Given the description of an element on the screen output the (x, y) to click on. 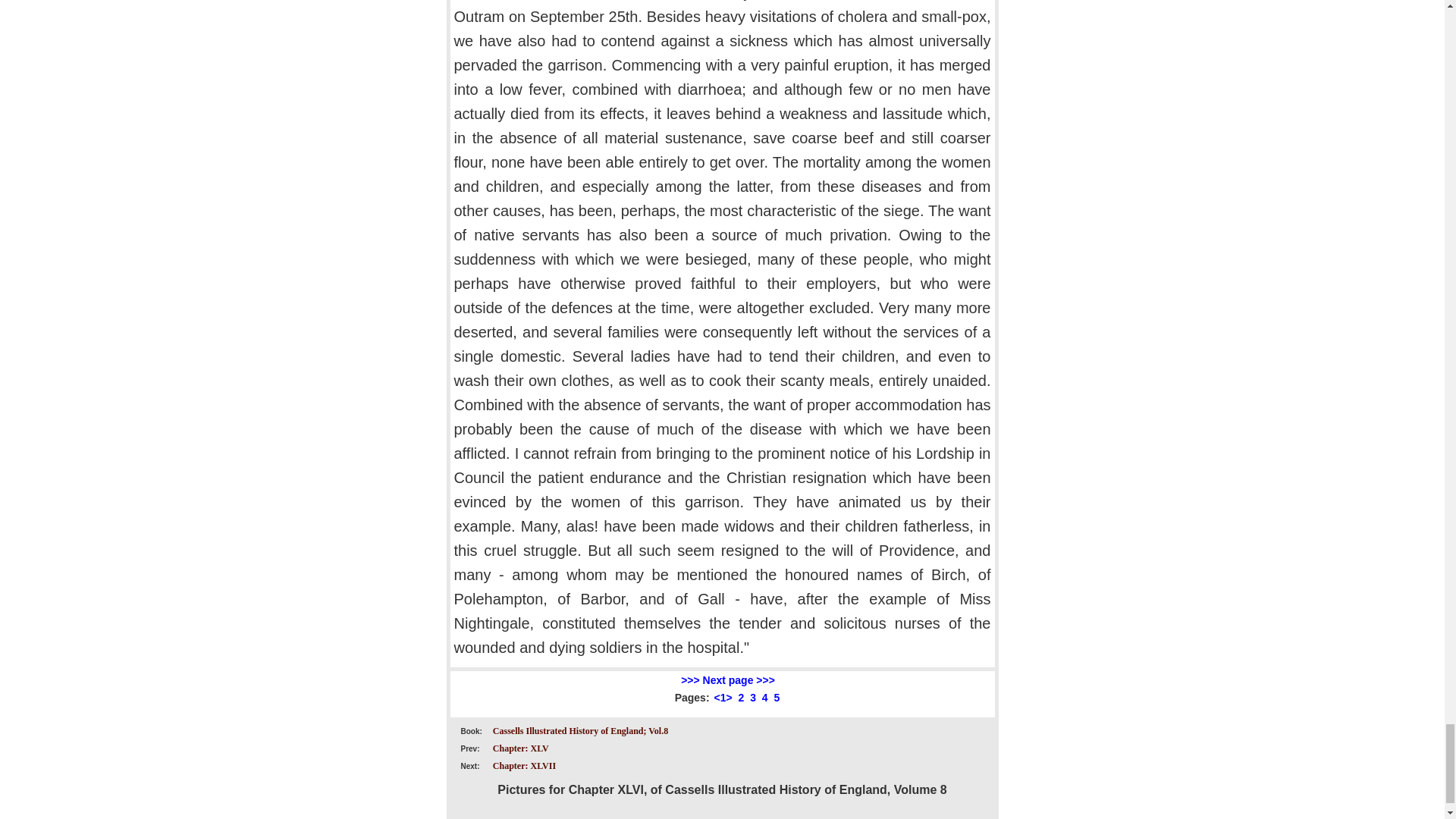
5 (777, 697)
2 (740, 697)
3 (752, 697)
4 (765, 697)
